Given the description of an element on the screen output the (x, y) to click on. 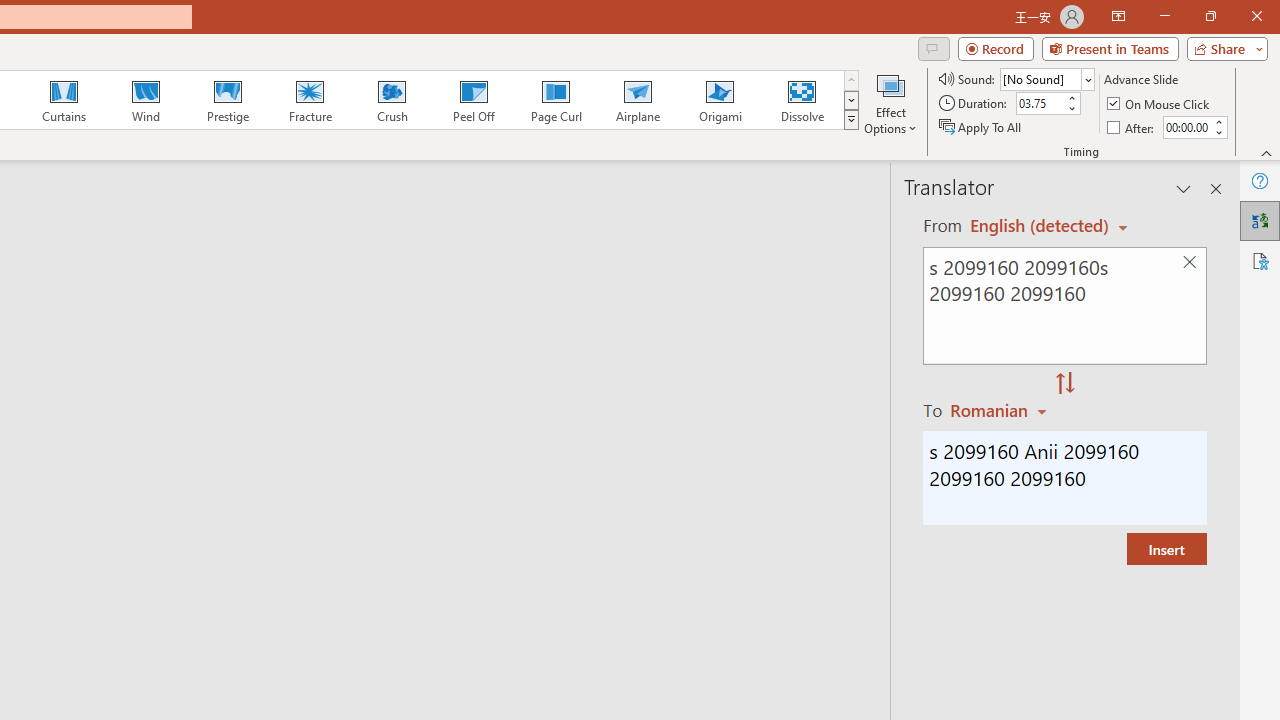
Sound (1046, 78)
Duration (1039, 103)
After (1131, 126)
Origami (719, 100)
Romanian (1001, 409)
Crush (391, 100)
Dissolve (802, 100)
Transition Effects (850, 120)
